Given the description of an element on the screen output the (x, y) to click on. 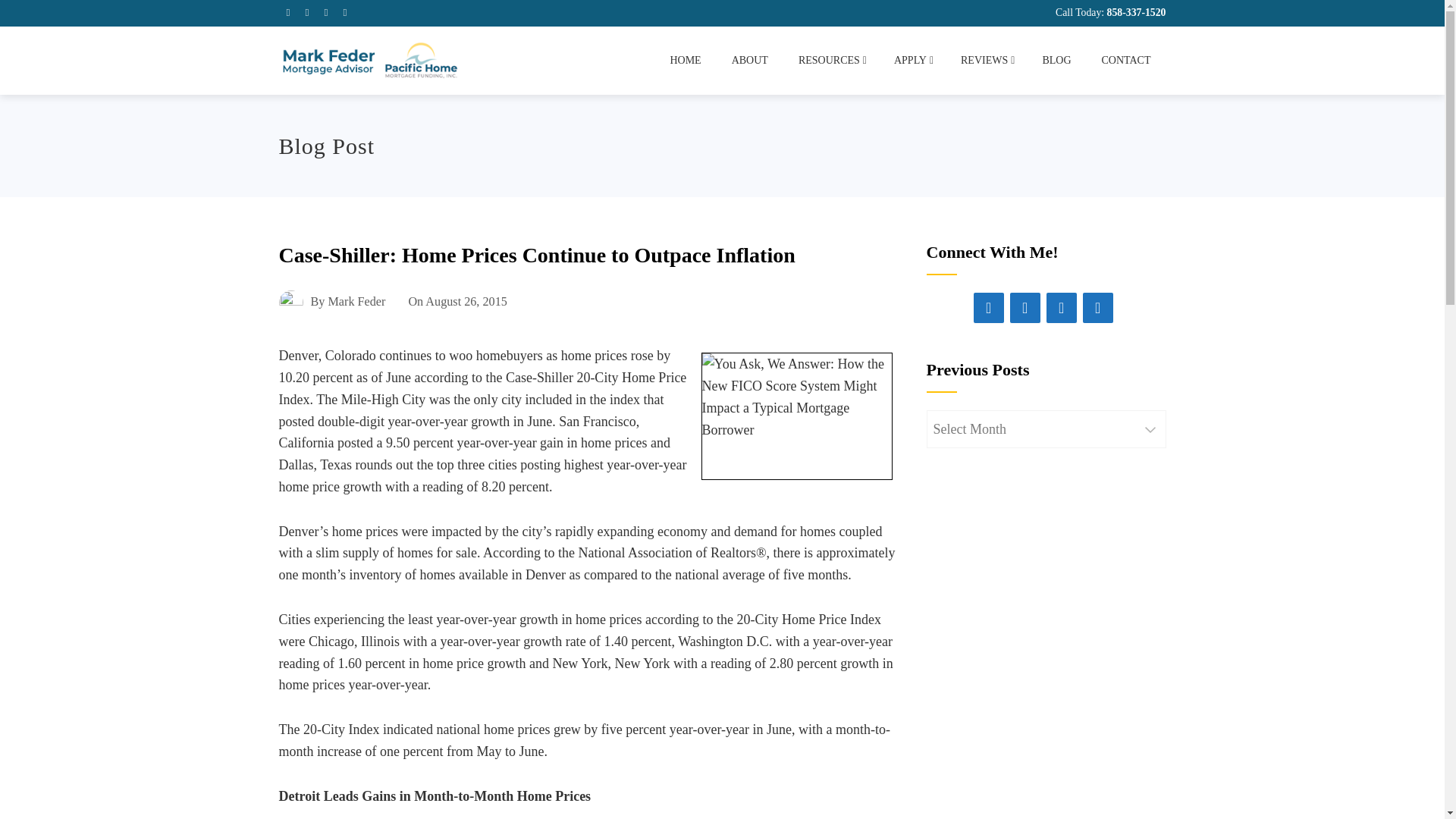
CONTACT (1126, 60)
RESOURCES (831, 60)
APPLY (911, 60)
REVIEWS (985, 60)
ABOUT (749, 60)
HOME (684, 60)
BLOG (1056, 60)
